Given the description of an element on the screen output the (x, y) to click on. 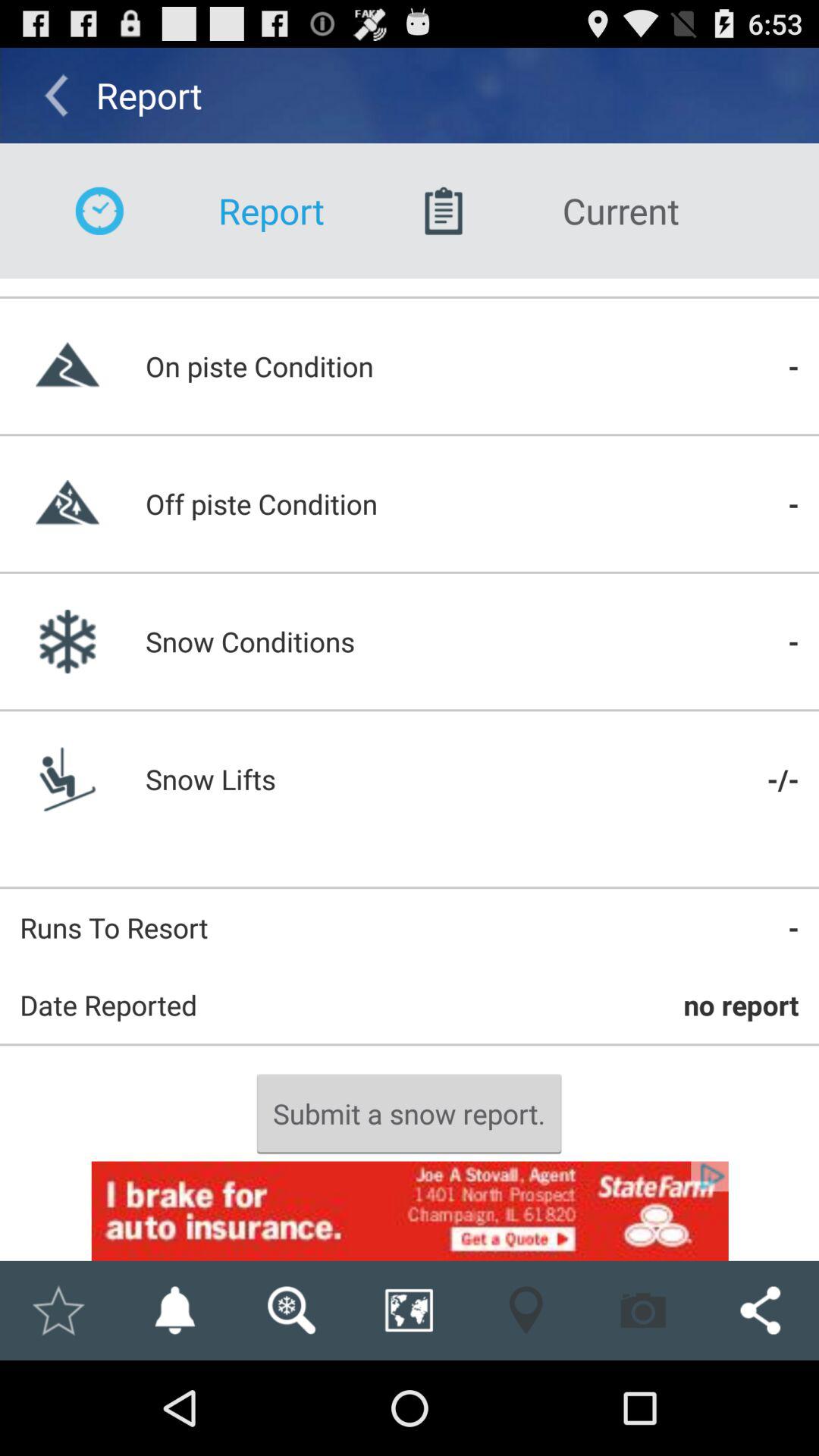
access camera (642, 1310)
